Given the description of an element on the screen output the (x, y) to click on. 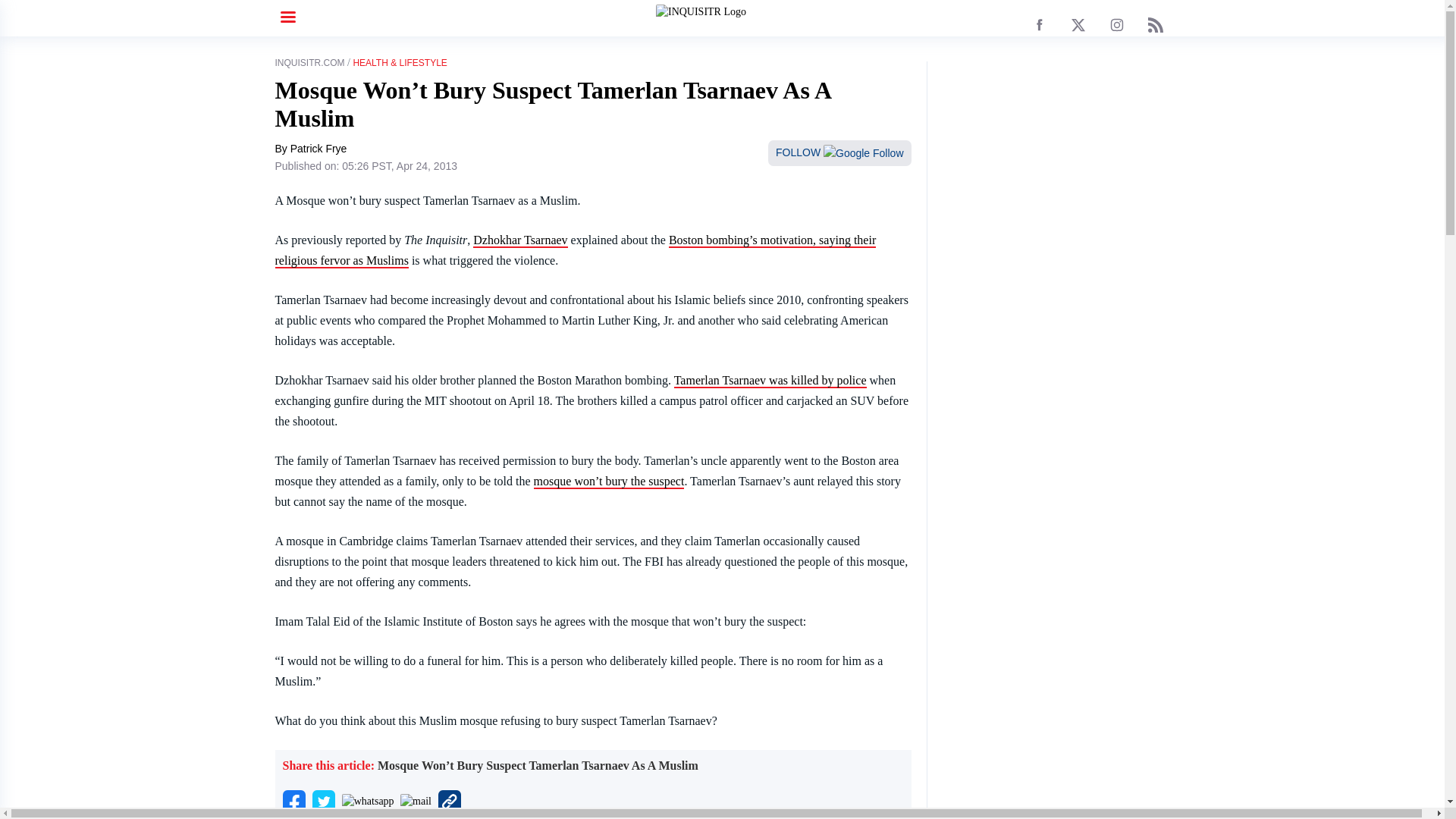
INQUISITR.COM (309, 62)
